Given the description of an element on the screen output the (x, y) to click on. 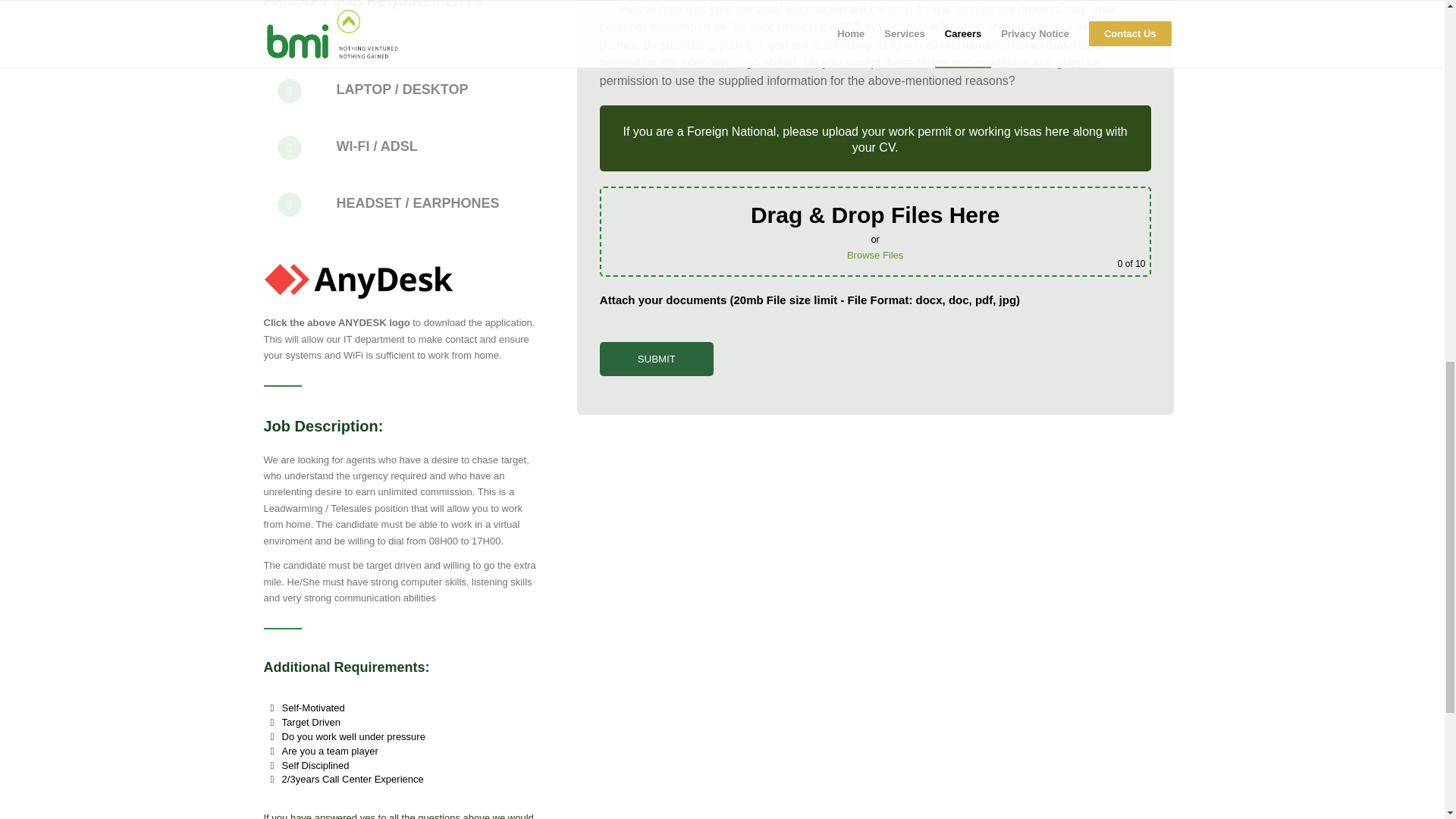
SUBMIT (656, 358)
Browse Files (874, 255)
SUBMIT (656, 358)
